Given the description of an element on the screen output the (x, y) to click on. 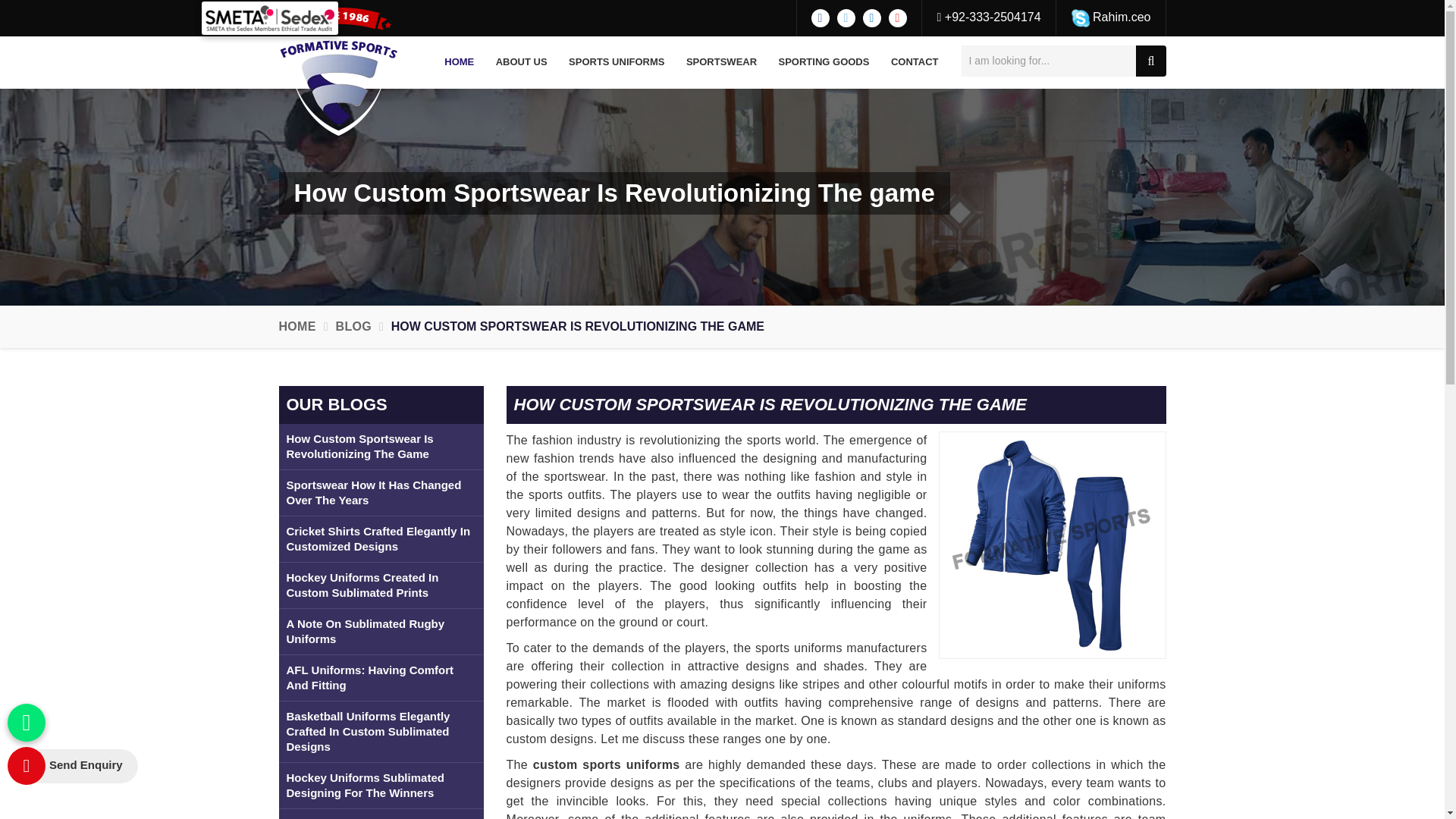
Facebook (819, 18)
Call Us (989, 17)
Sports Uniforms (615, 62)
SPORTS UNIFORMS (615, 62)
Linkedin (871, 18)
Skype (1080, 18)
HOME (459, 62)
ABOUT US (521, 62)
Proud to be Sedex Member (269, 17)
Rahim.ceo (1111, 18)
